Given the description of an element on the screen output the (x, y) to click on. 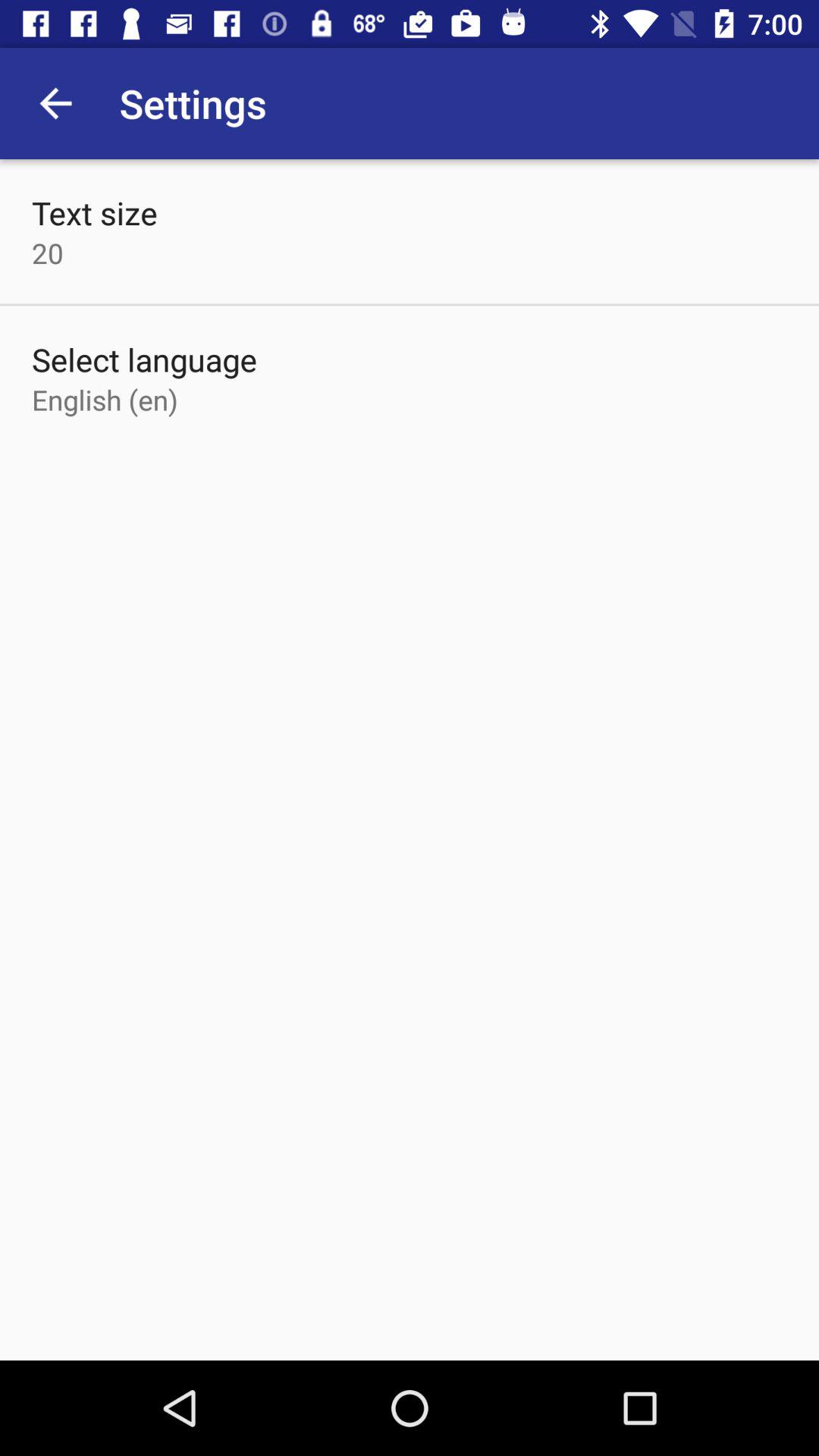
click icon below the text size (47, 252)
